Given the description of an element on the screen output the (x, y) to click on. 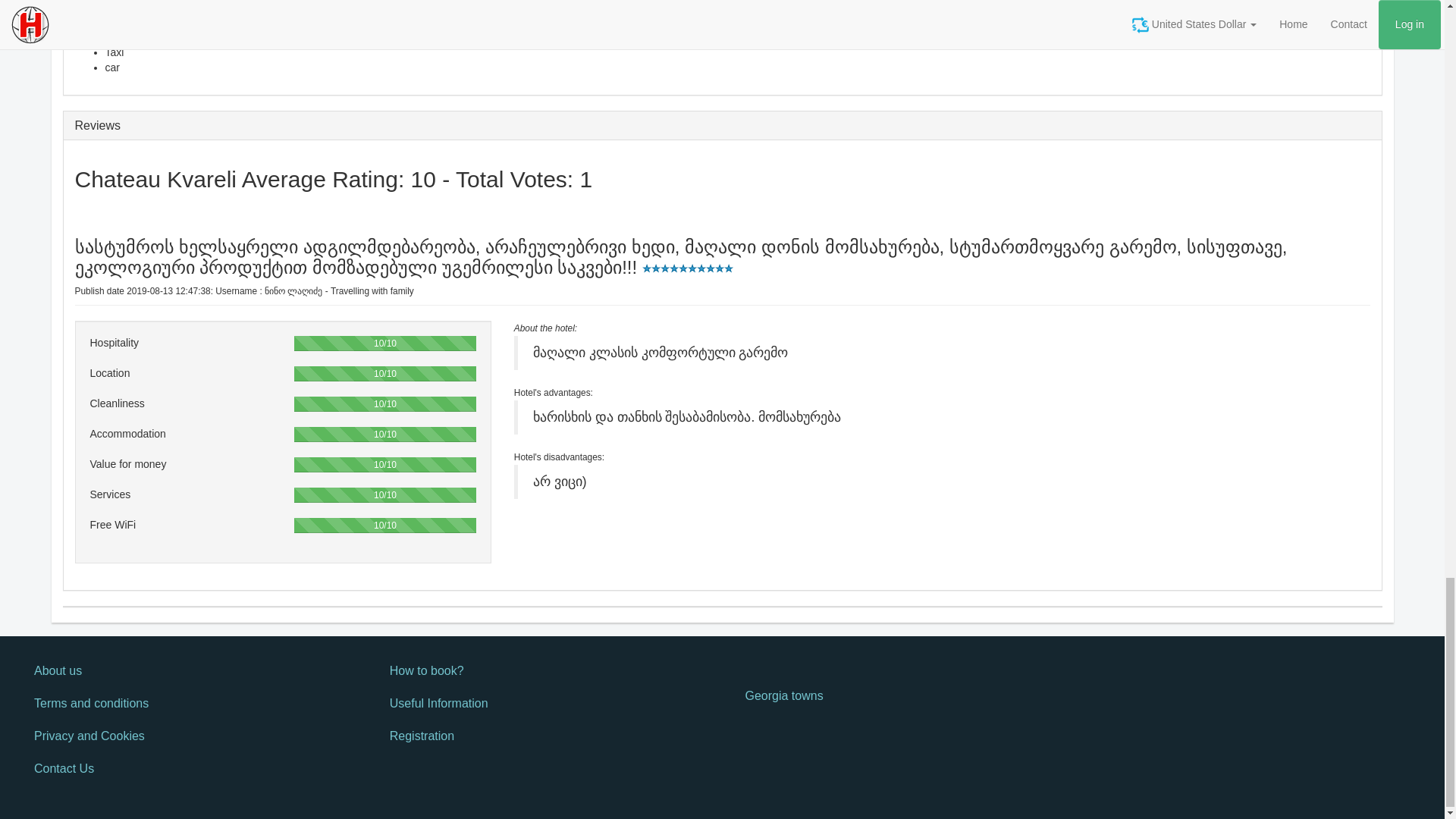
Georgia towns (900, 696)
arminka (544, 327)
How to book? (544, 671)
Contact Us (189, 768)
Privacy and Cookies (189, 736)
Terms and conditions (189, 703)
About us (189, 671)
Registration (544, 736)
Useful Information (544, 703)
